Given the description of an element on the screen output the (x, y) to click on. 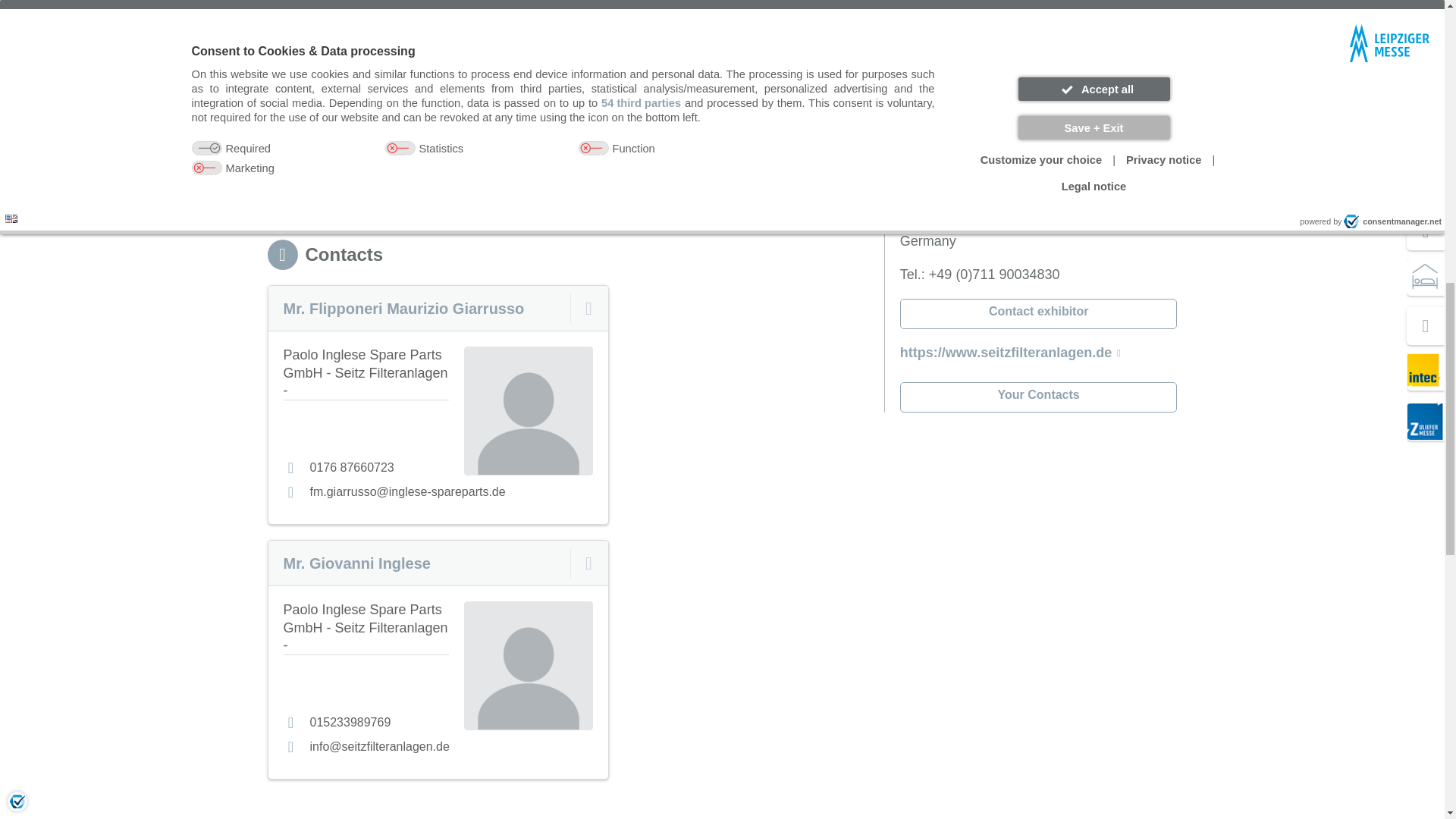
Scroll to the top (721, 26)
Scroll to the top (1161, 22)
Scroll to the top (1161, 22)
